Given the description of an element on the screen output the (x, y) to click on. 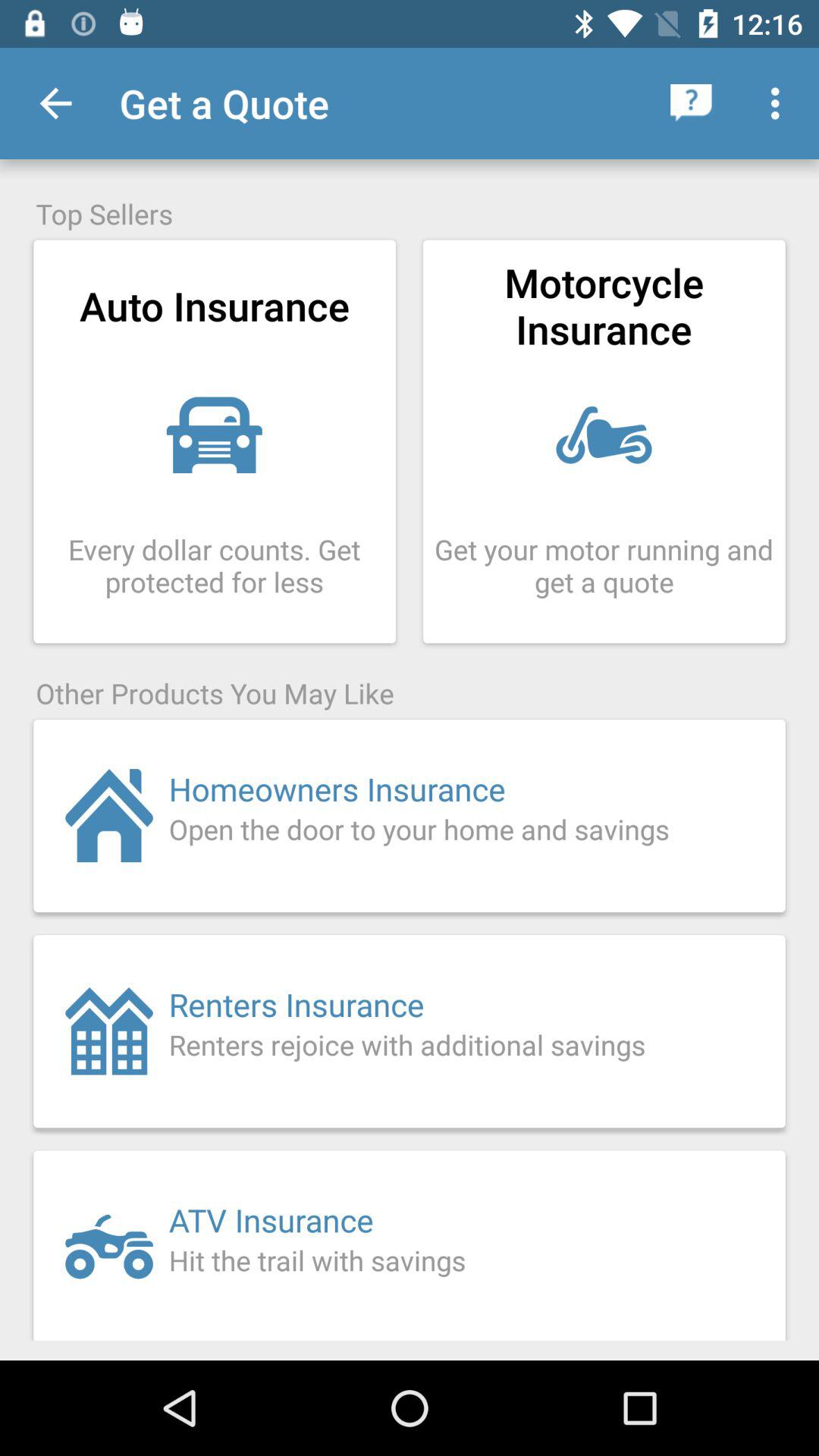
click the item to the right of get a quote (691, 103)
